Given the description of an element on the screen output the (x, y) to click on. 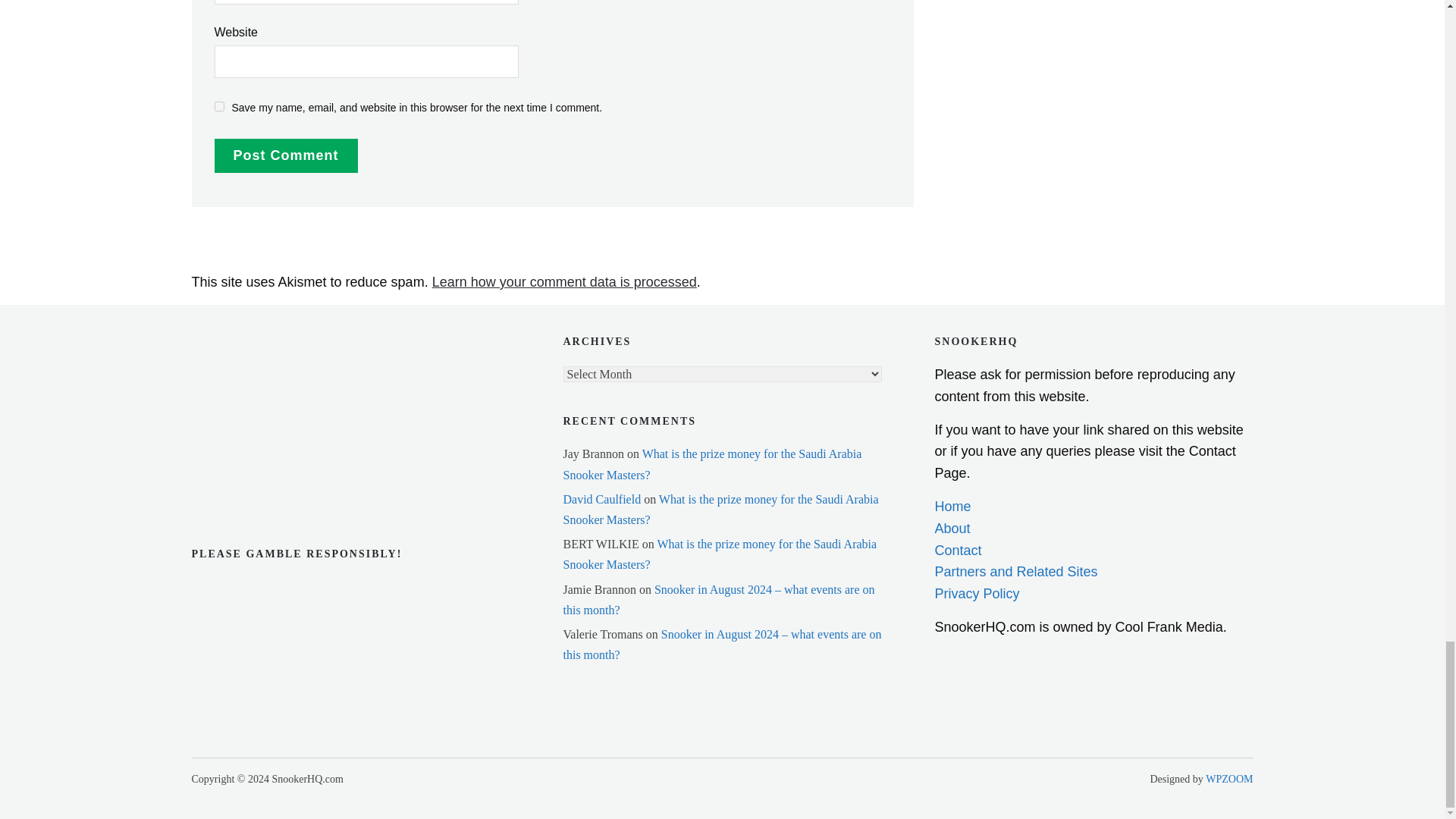
non-gamstop-betting-sites (266, 436)
Post Comment (285, 155)
nongamstopbets-sports-betting (266, 390)
ngc-uk-betting-sites-not-on-gamstop (266, 345)
yes (219, 106)
